Given the description of an element on the screen output the (x, y) to click on. 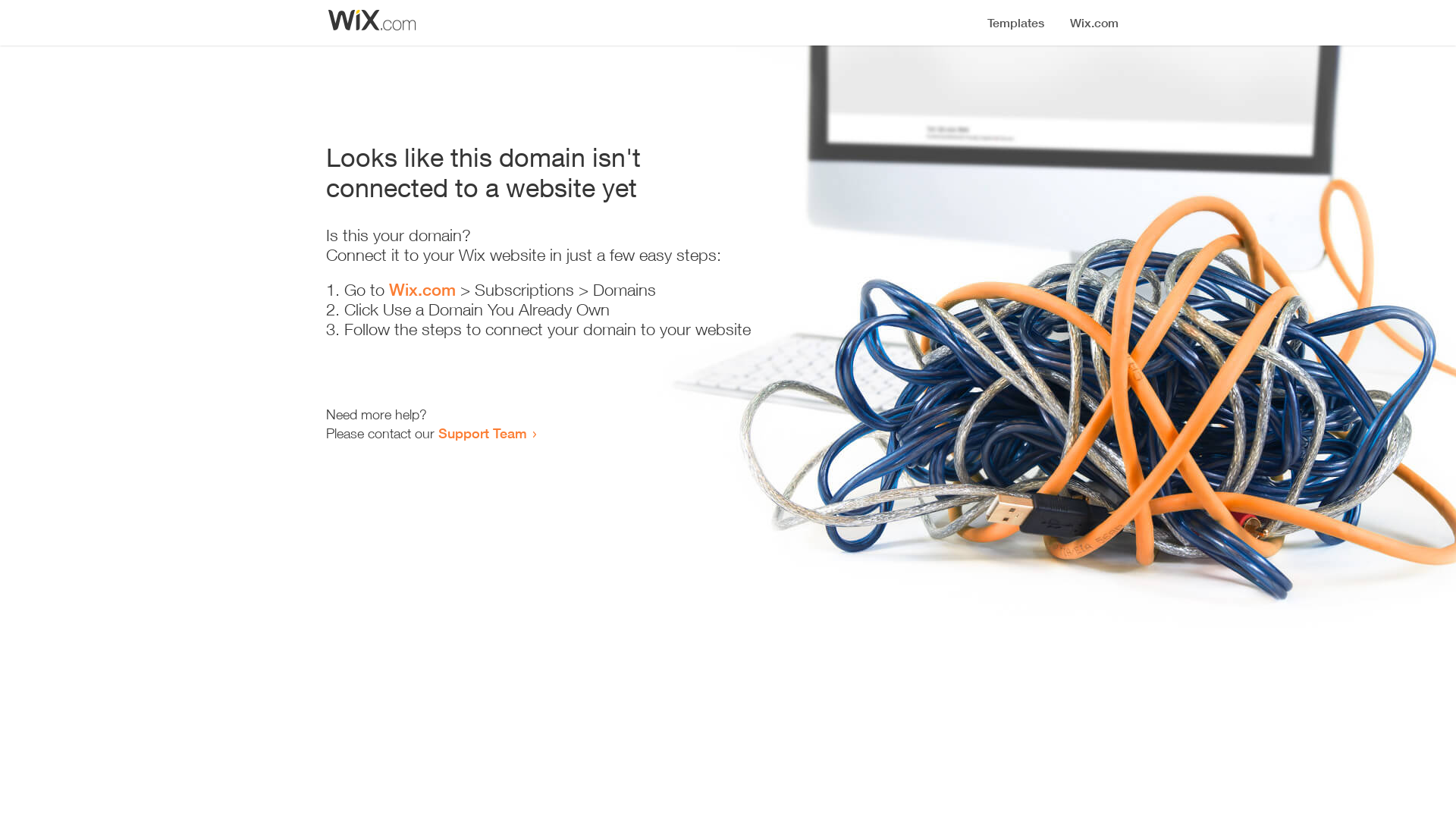
Wix.com Element type: text (422, 289)
Support Team Element type: text (482, 432)
